Given the description of an element on the screen output the (x, y) to click on. 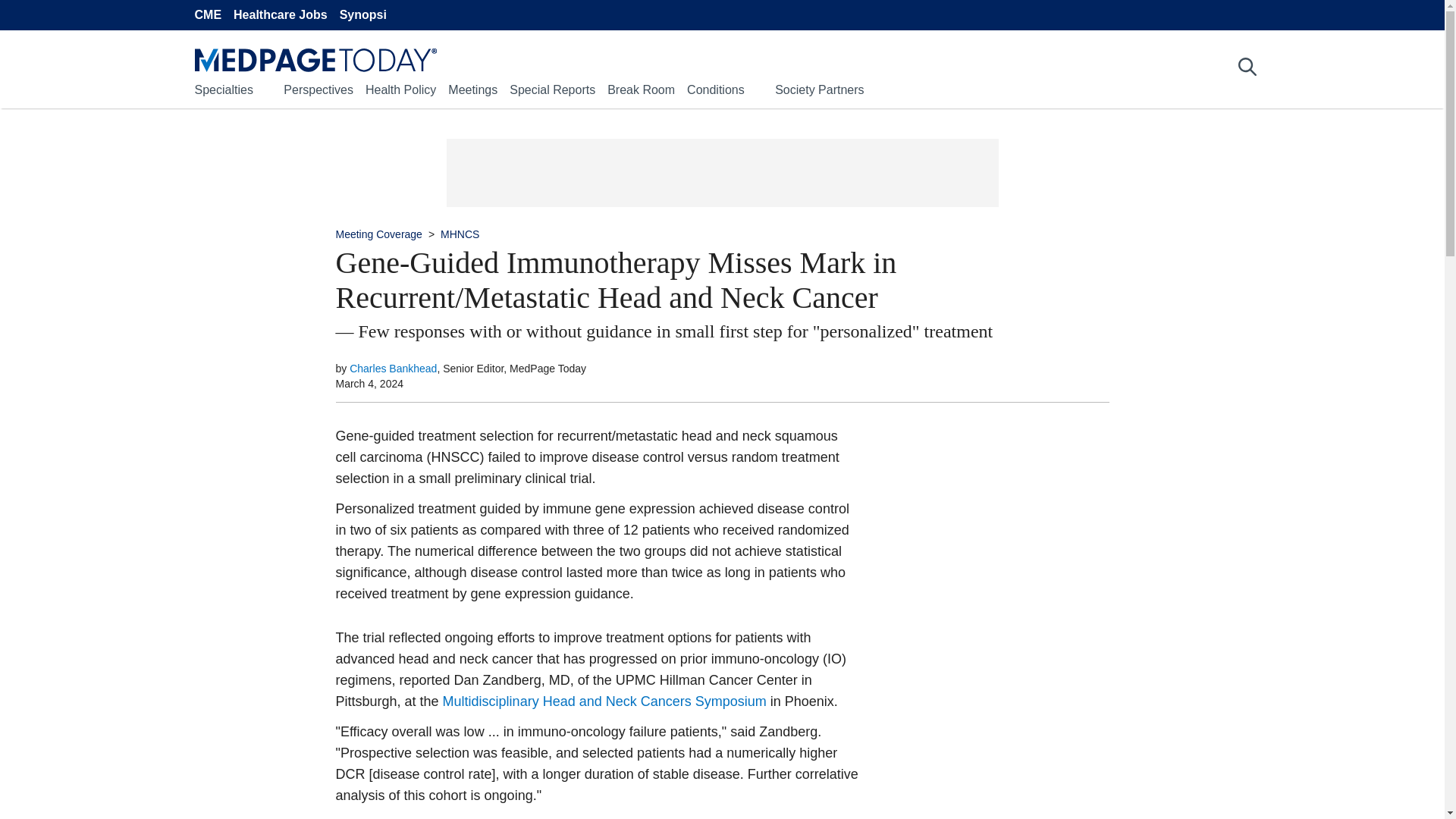
Healthcare Jobs (279, 15)
CME (207, 15)
Specialties (222, 89)
Synopsi (363, 15)
